Given the description of an element on the screen output the (x, y) to click on. 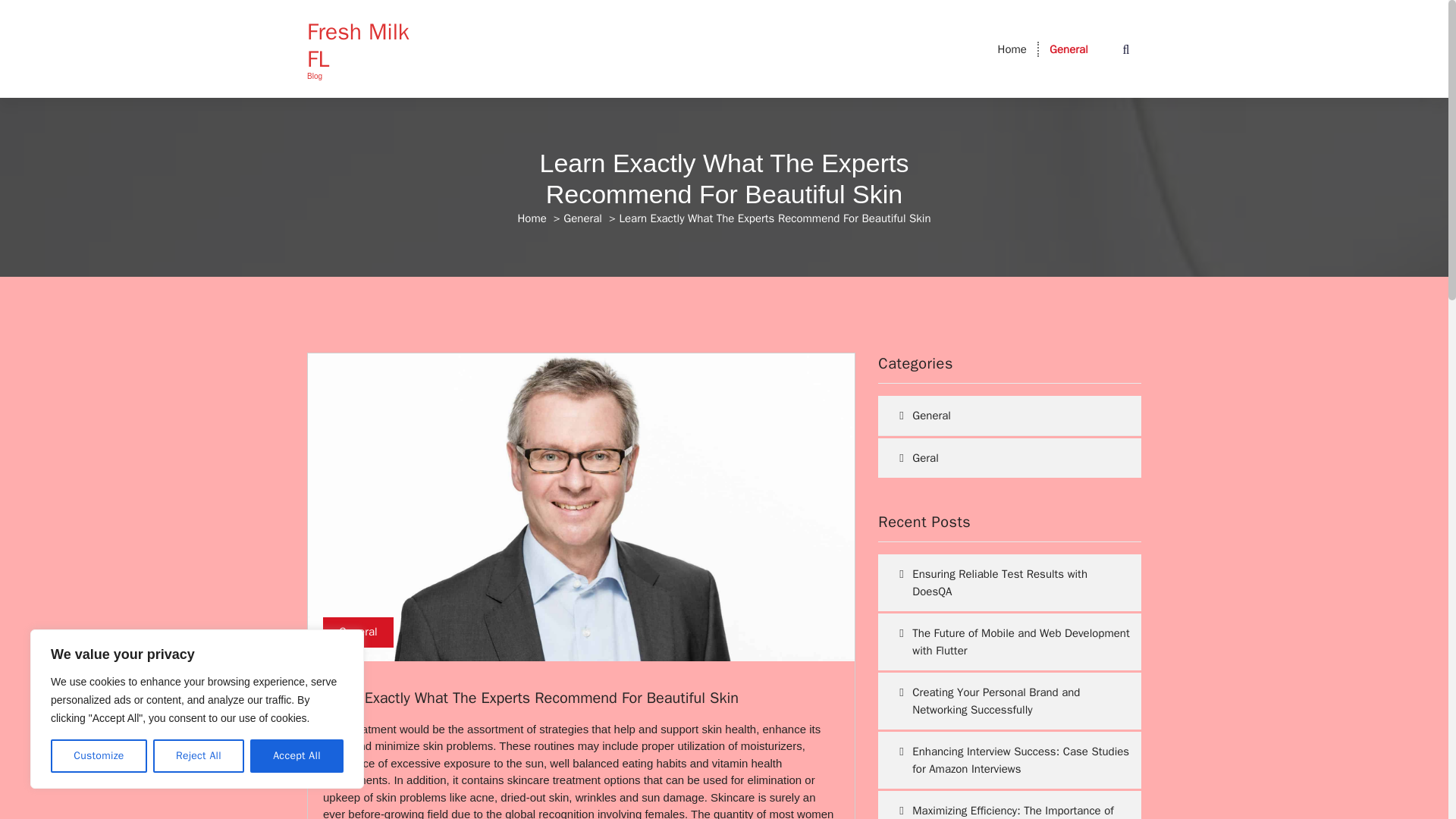
General (1068, 49)
Fresh Milk FL (366, 45)
Customize (98, 756)
Reject All (198, 756)
Accept All (296, 756)
General (1068, 49)
Home (531, 218)
General (358, 632)
Home (1012, 49)
General (582, 218)
Home (1012, 49)
